Given the description of an element on the screen output the (x, y) to click on. 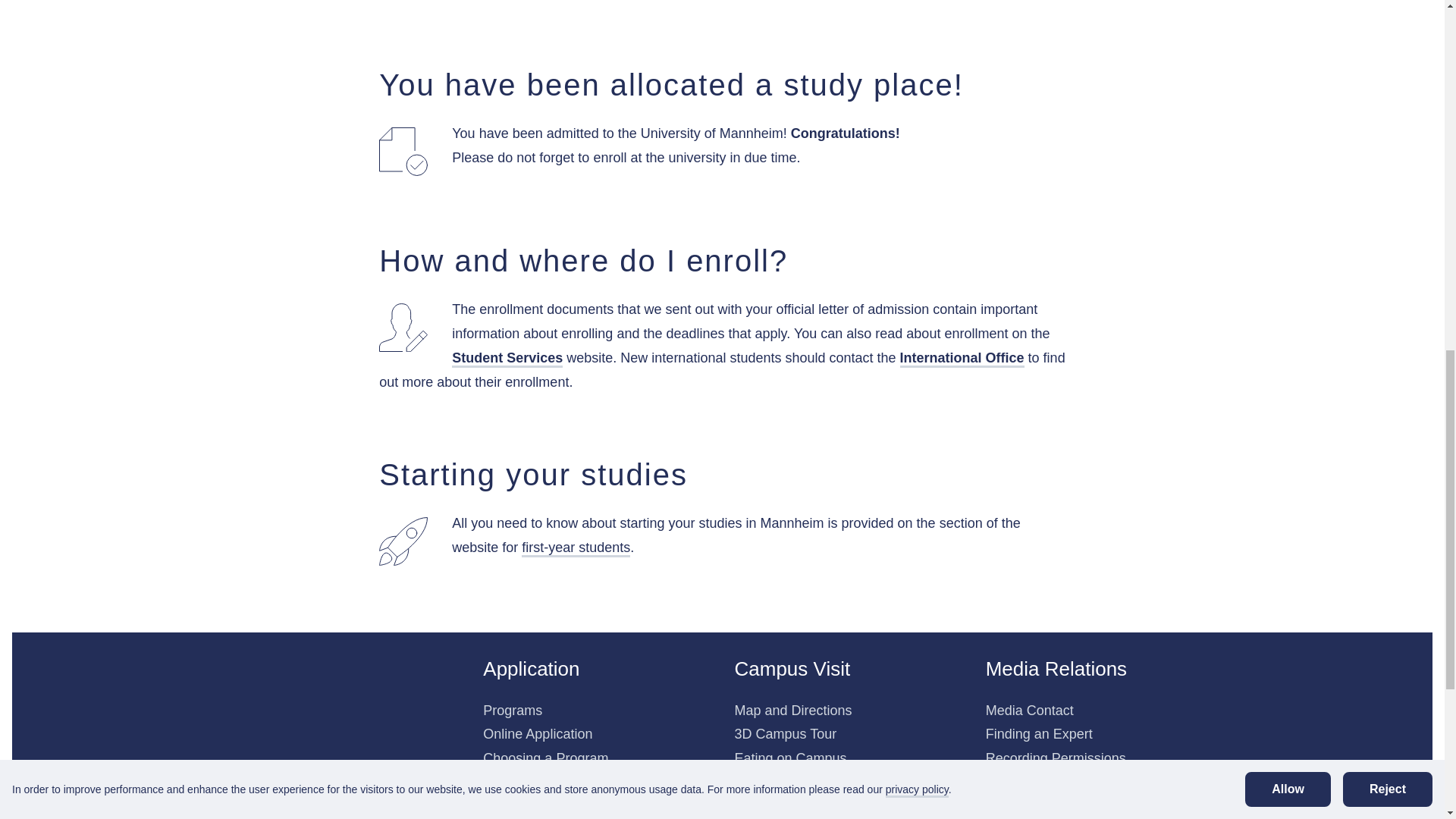
Seal of the University of Mannheim: In omnibus veritas (297, 723)
